Given the description of an element on the screen output the (x, y) to click on. 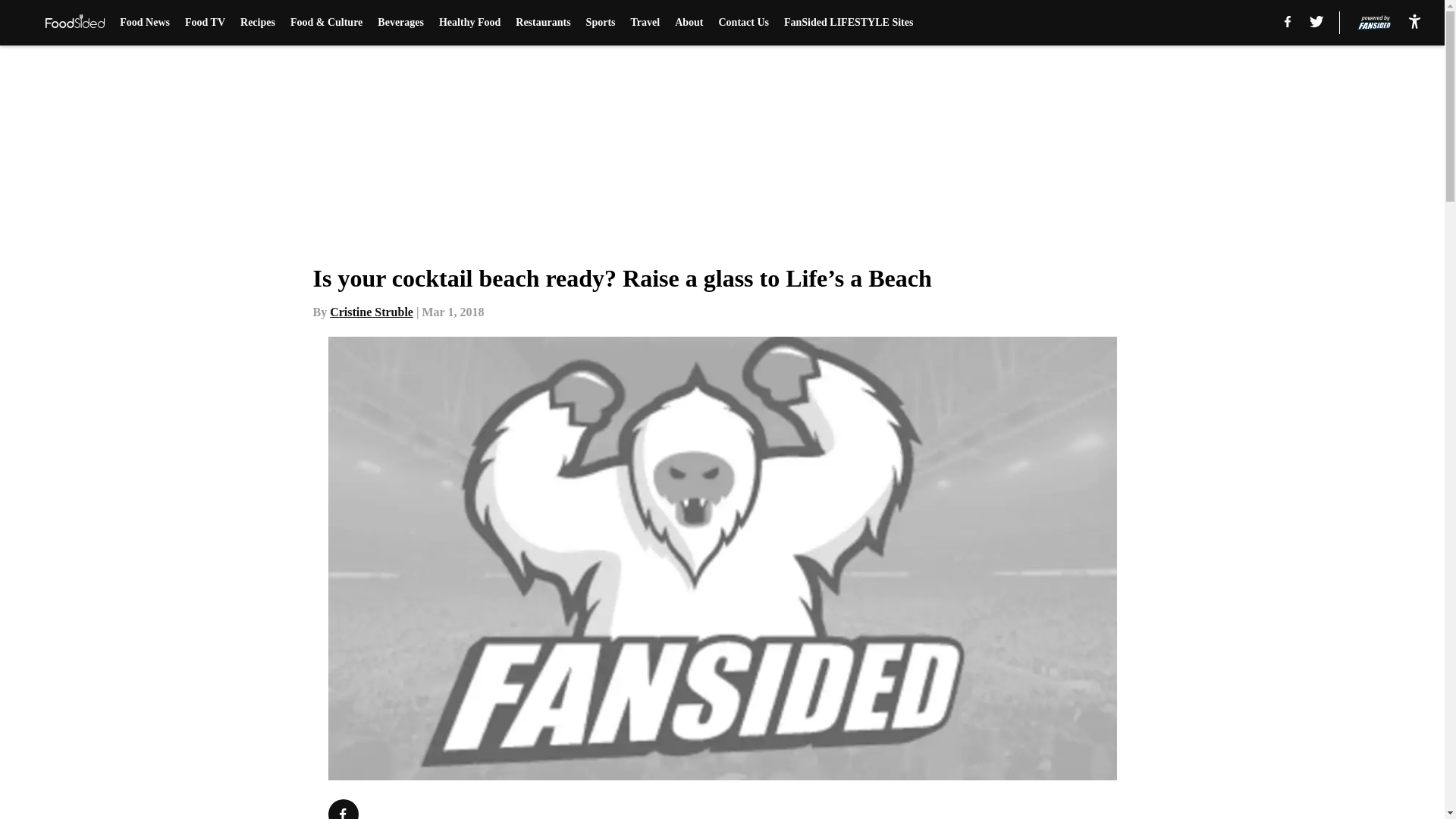
Recipes (257, 22)
Beverages (400, 22)
About (689, 22)
Travel (645, 22)
Sports (600, 22)
Food TV (204, 22)
FanSided LIFESTYLE Sites (848, 22)
Food News (144, 22)
Healthy Food (469, 22)
Cristine Struble (371, 311)
